Given the description of an element on the screen output the (x, y) to click on. 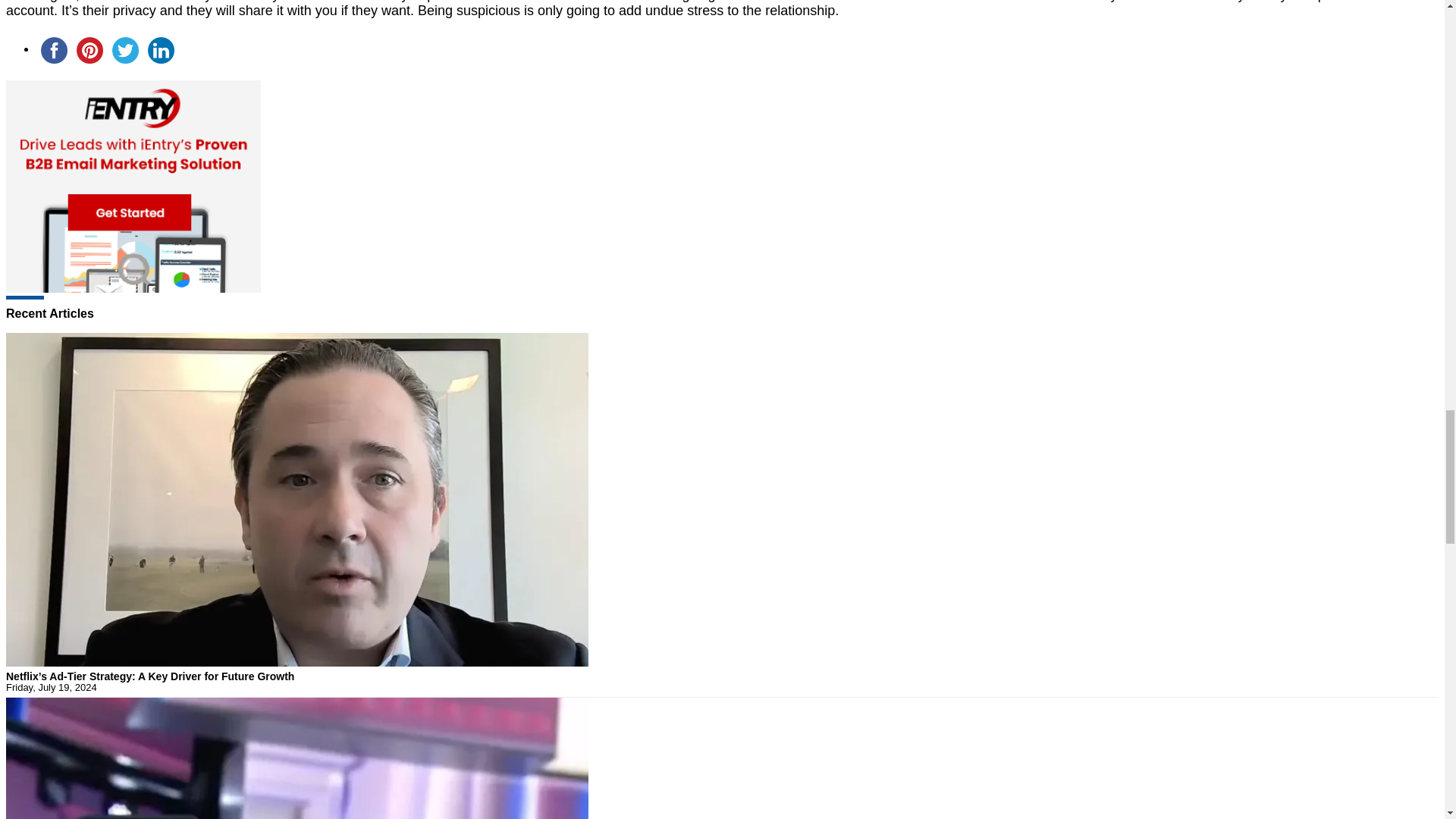
pinterest (89, 49)
twitter (124, 49)
facebook (53, 49)
